Given the description of an element on the screen output the (x, y) to click on. 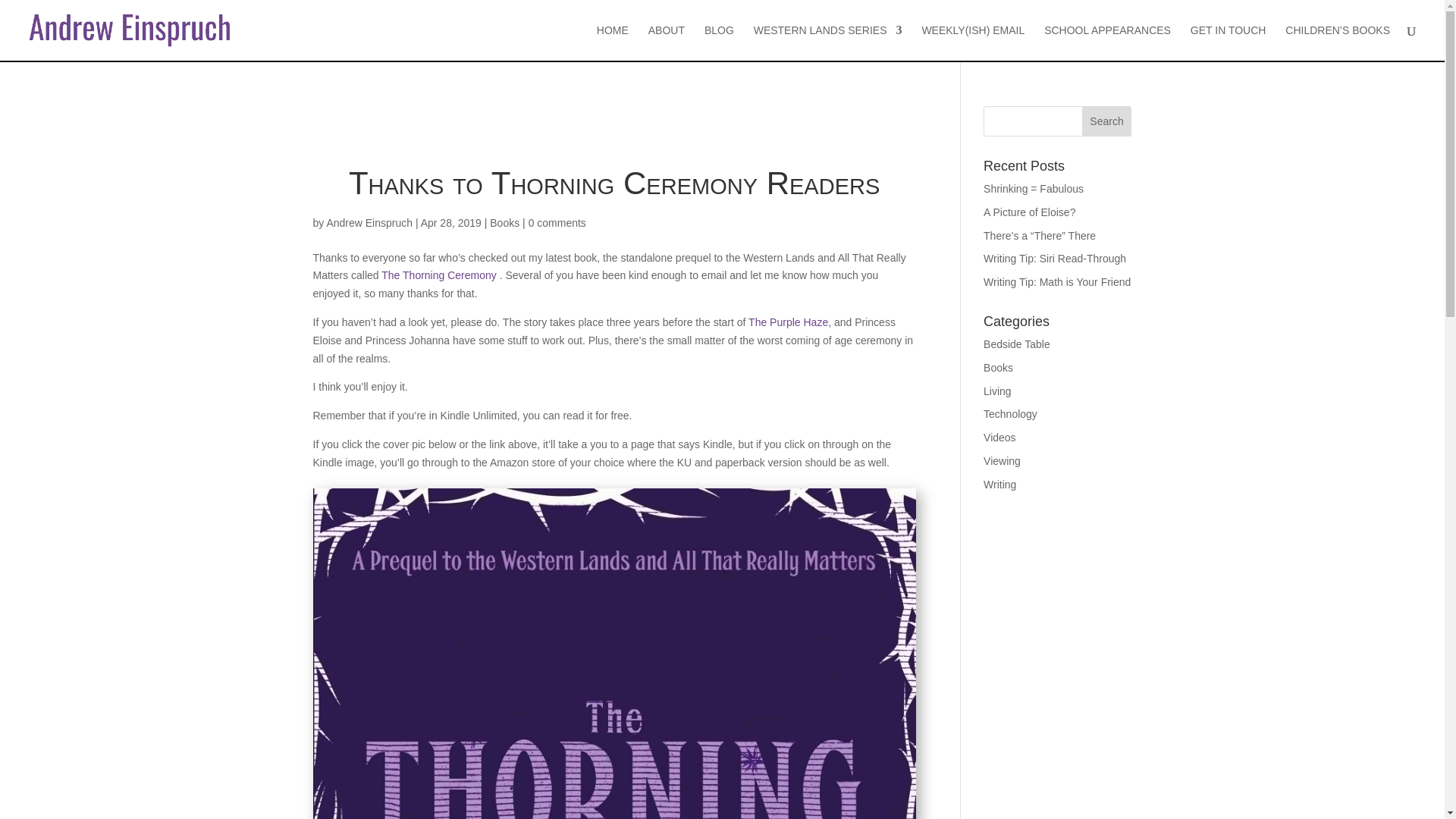
Books (504, 223)
Search (1106, 121)
Videos (1000, 437)
Viewing (1002, 460)
The Thorning Ceremony (438, 275)
SCHOOL APPEARANCES (1106, 42)
Books (998, 367)
WESTERN LANDS SERIES (828, 42)
HOME (612, 42)
Posts by Andrew Einspruch (369, 223)
